Given the description of an element on the screen output the (x, y) to click on. 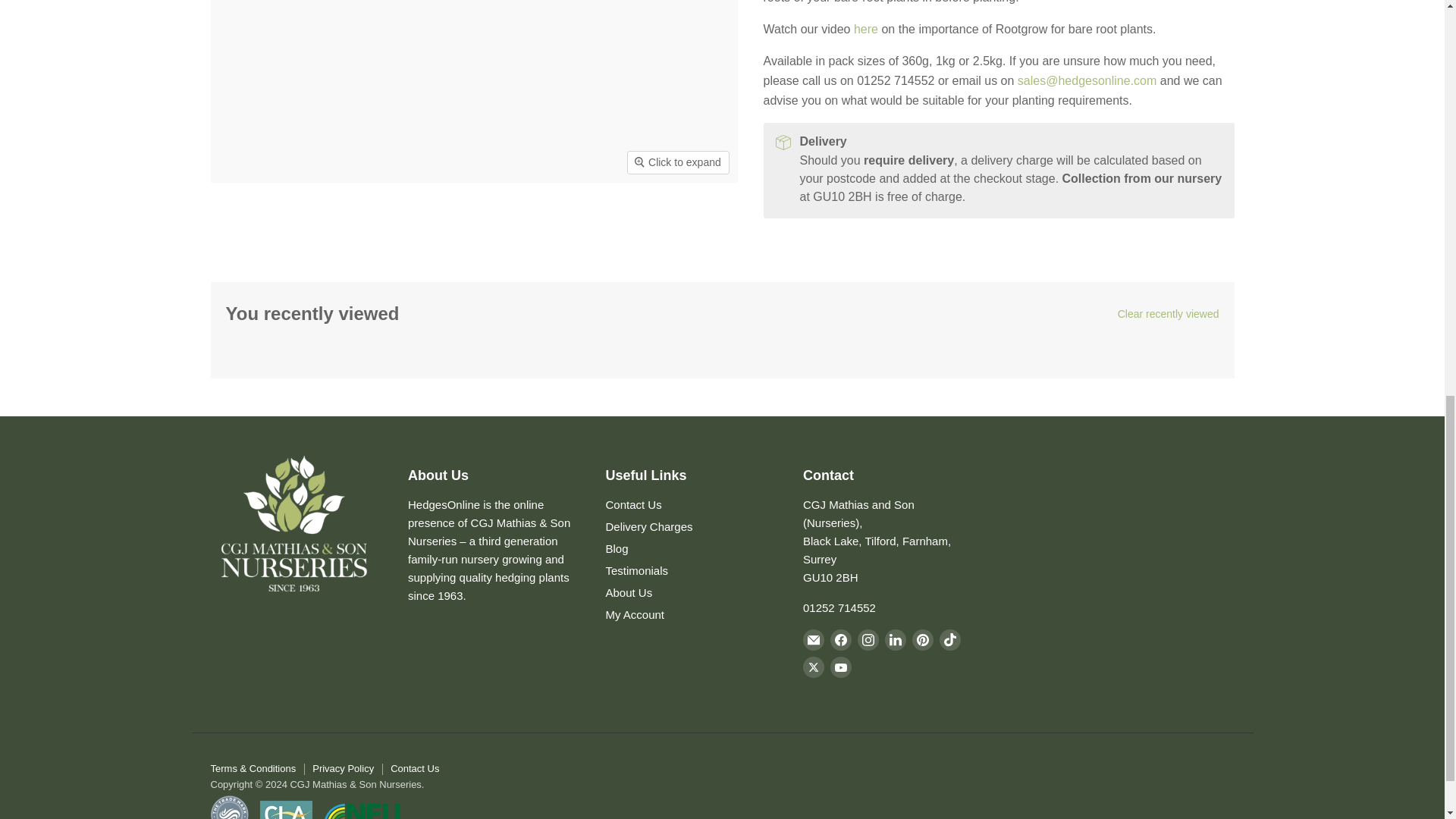
Email (813, 639)
Facebook (840, 639)
Instagram (868, 639)
